Given the description of an element on the screen output the (x, y) to click on. 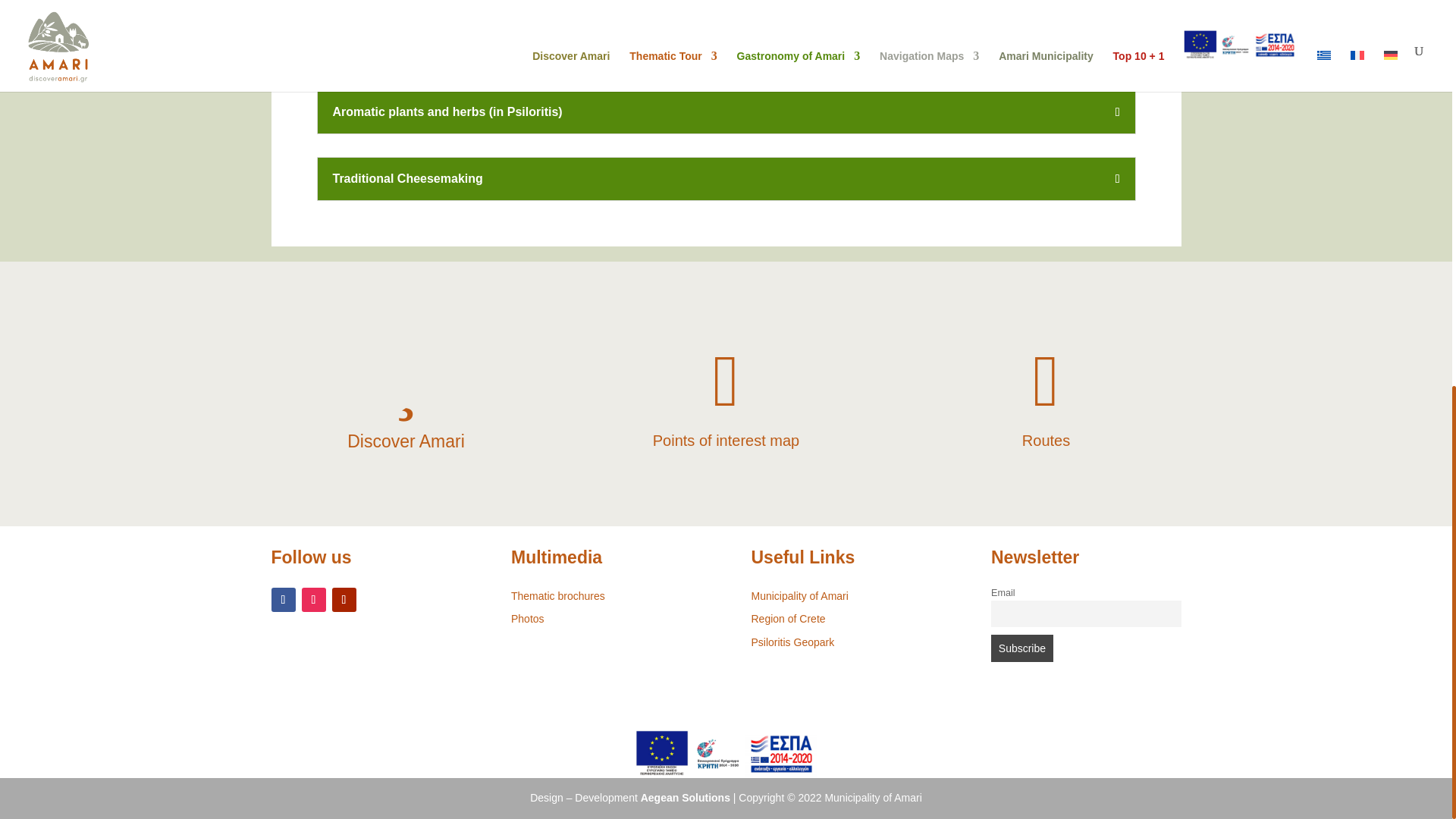
Subscribe (1021, 647)
Follow on Youtube (343, 599)
Psiloritis Geopark (792, 642)
Follow on Instagram (313, 599)
Municipality of Amari (799, 595)
Subscribe (1021, 647)
Thematic brochures (558, 595)
ESPA-2 (725, 754)
Follow on Facebook (282, 599)
Aegean Solutions (685, 797)
